Given the description of an element on the screen output the (x, y) to click on. 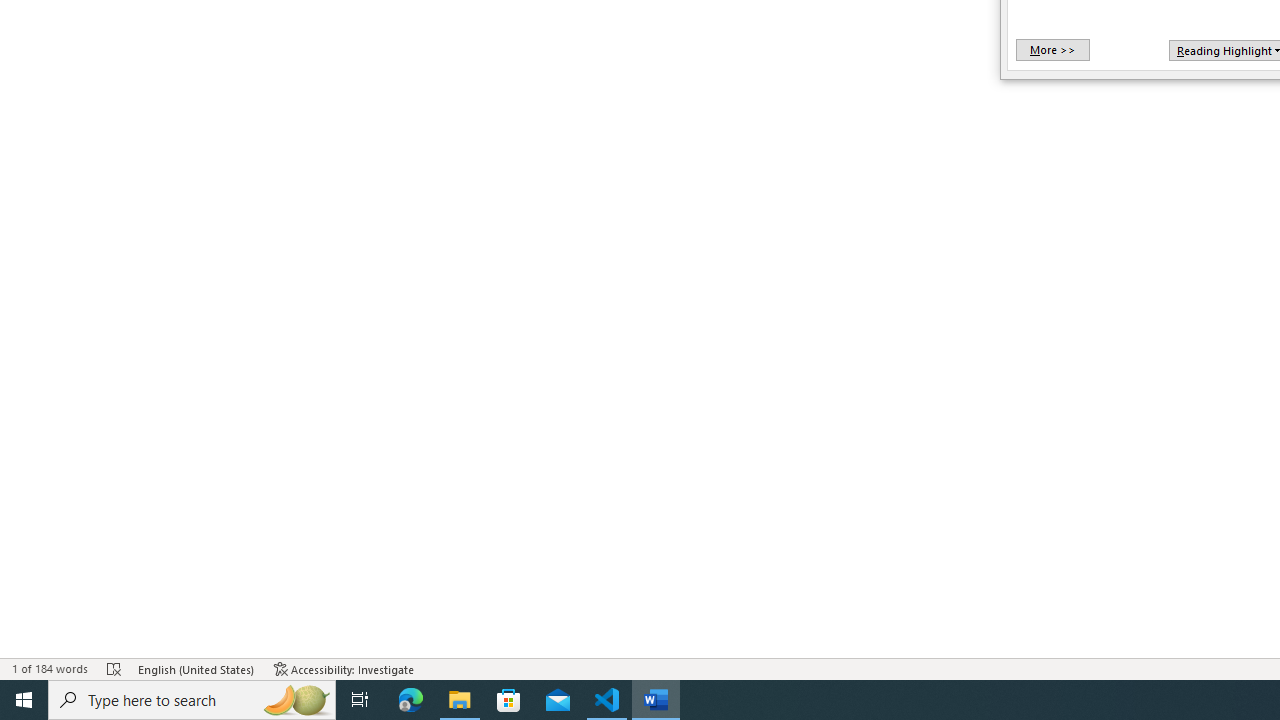
Type here to search (191, 699)
Search highlights icon opens search home window (295, 699)
Microsoft Store (509, 699)
Visual Studio Code - 1 running window (607, 699)
Microsoft Edge (411, 699)
Word - 1 running window (656, 699)
Task View (359, 699)
Start (24, 699)
More >> (1052, 49)
File Explorer - 1 running window (460, 699)
